Given the description of an element on the screen output the (x, y) to click on. 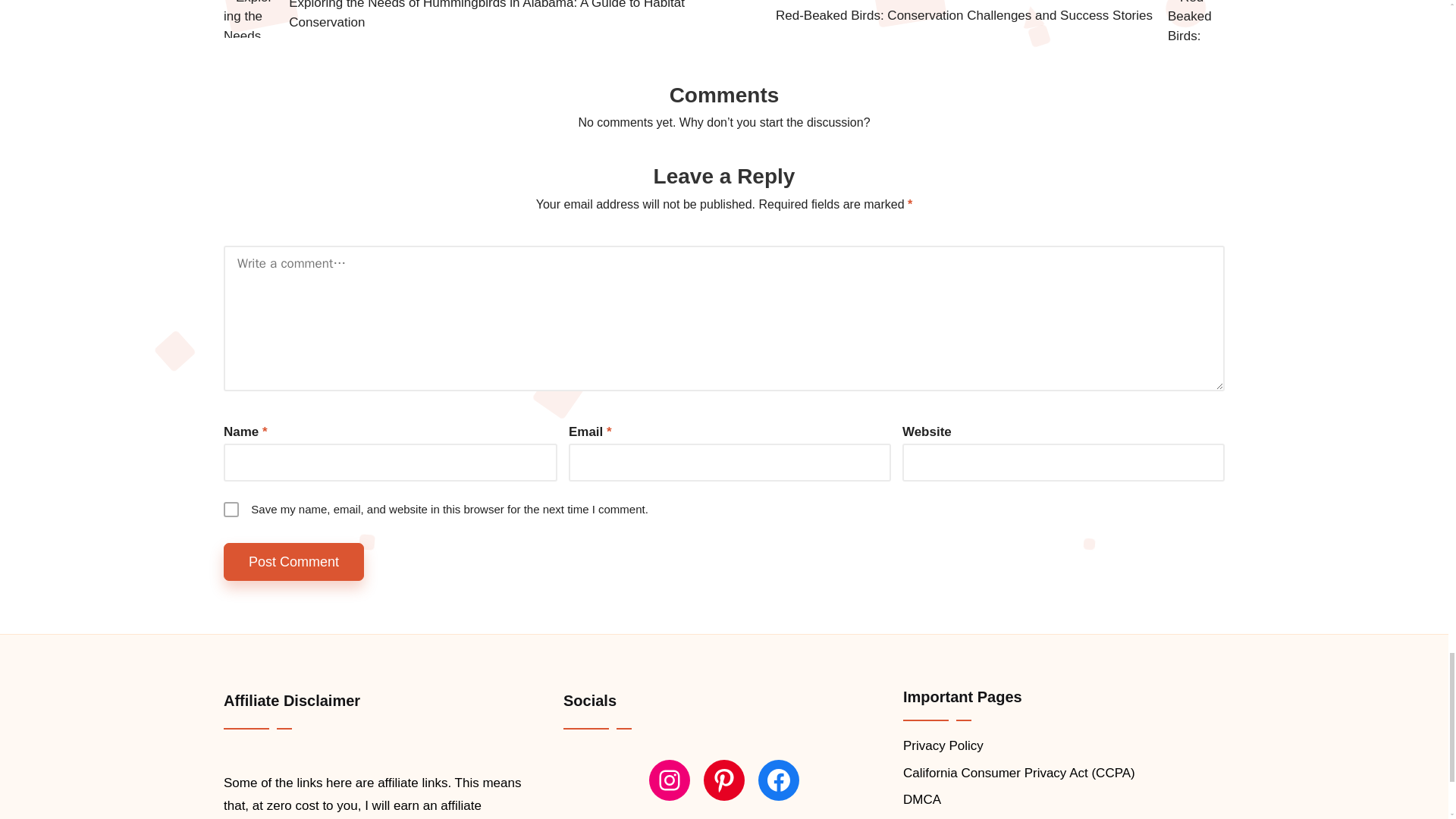
yes (231, 509)
Post Comment (294, 561)
